Given the description of an element on the screen output the (x, y) to click on. 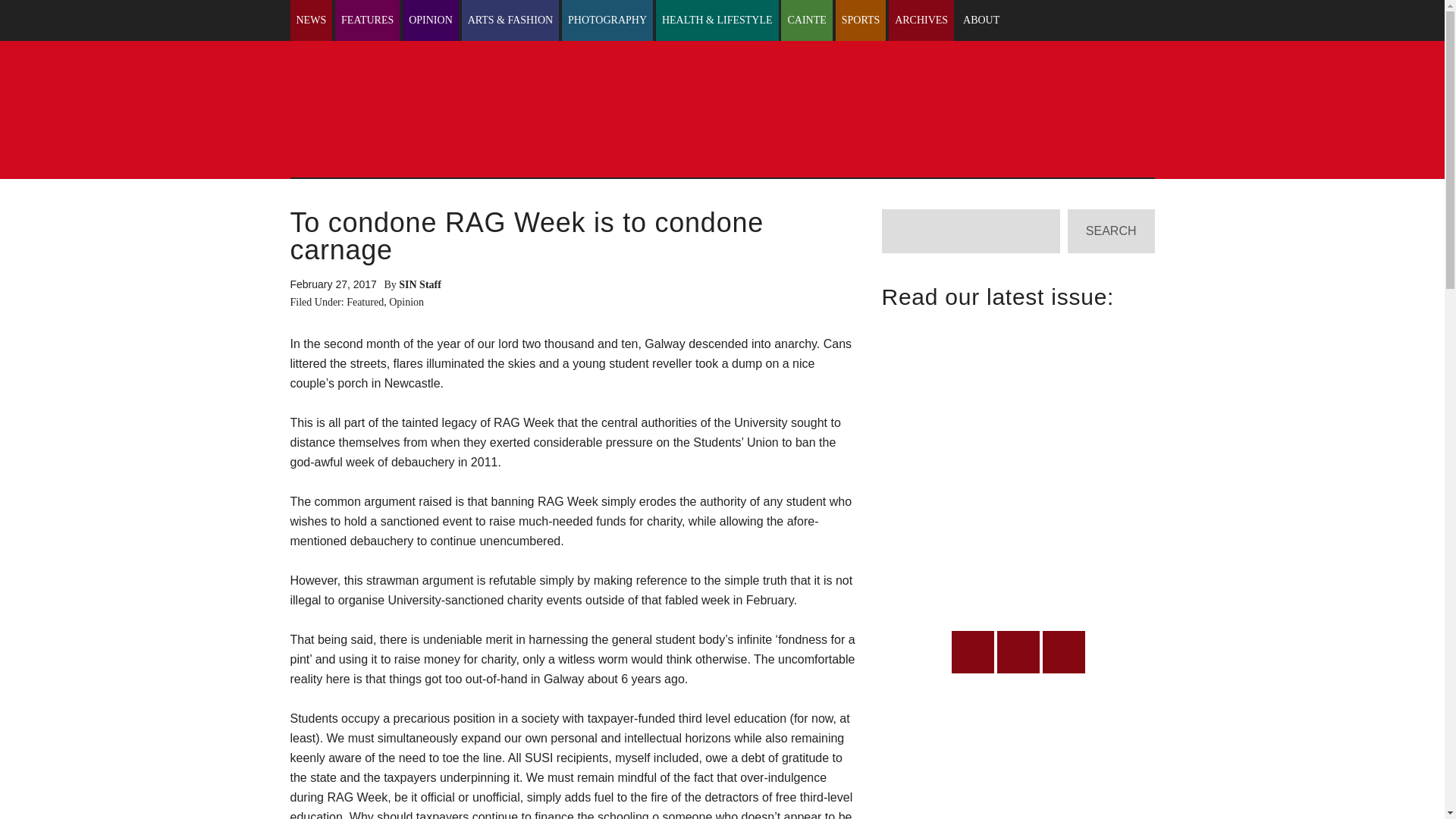
SPORTS (860, 20)
NEWS (310, 20)
PHOTOGRAPHY (607, 20)
CAINTE (805, 20)
FEATURES (366, 20)
OPINION (430, 20)
